Given the description of an element on the screen output the (x, y) to click on. 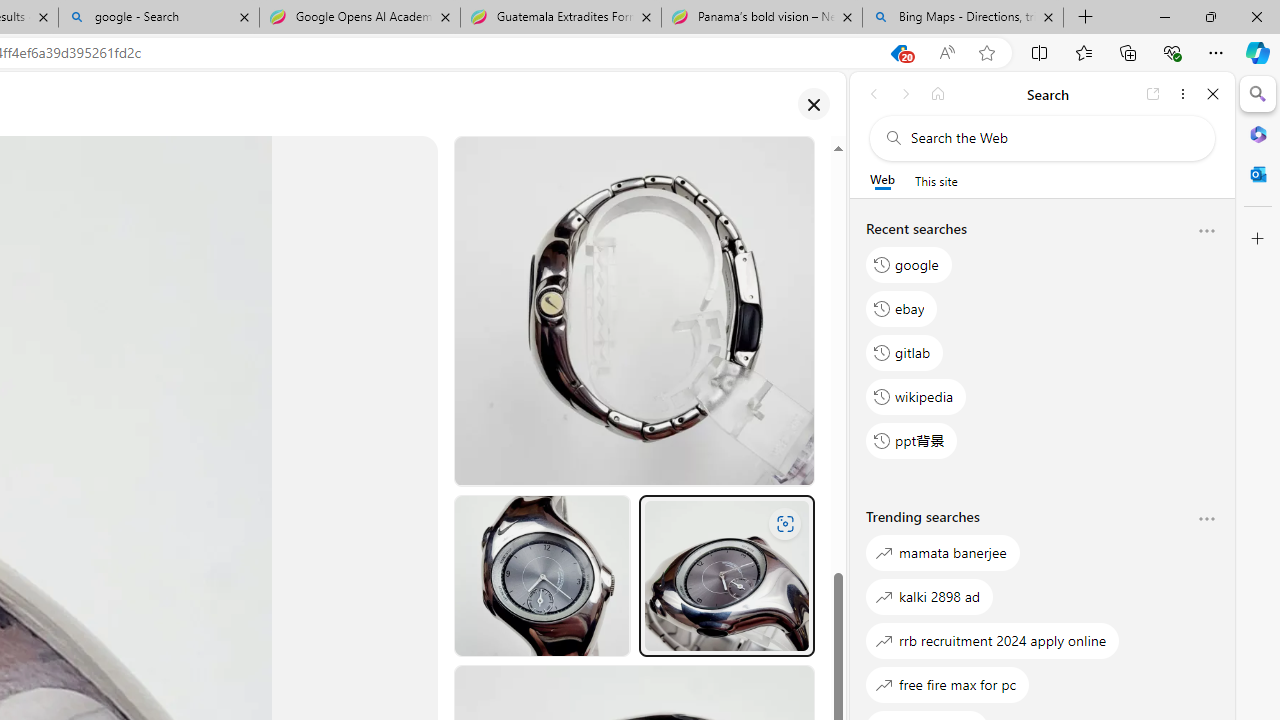
ebay (902, 308)
free fire max for pc (947, 684)
